Given the description of an element on the screen output the (x, y) to click on. 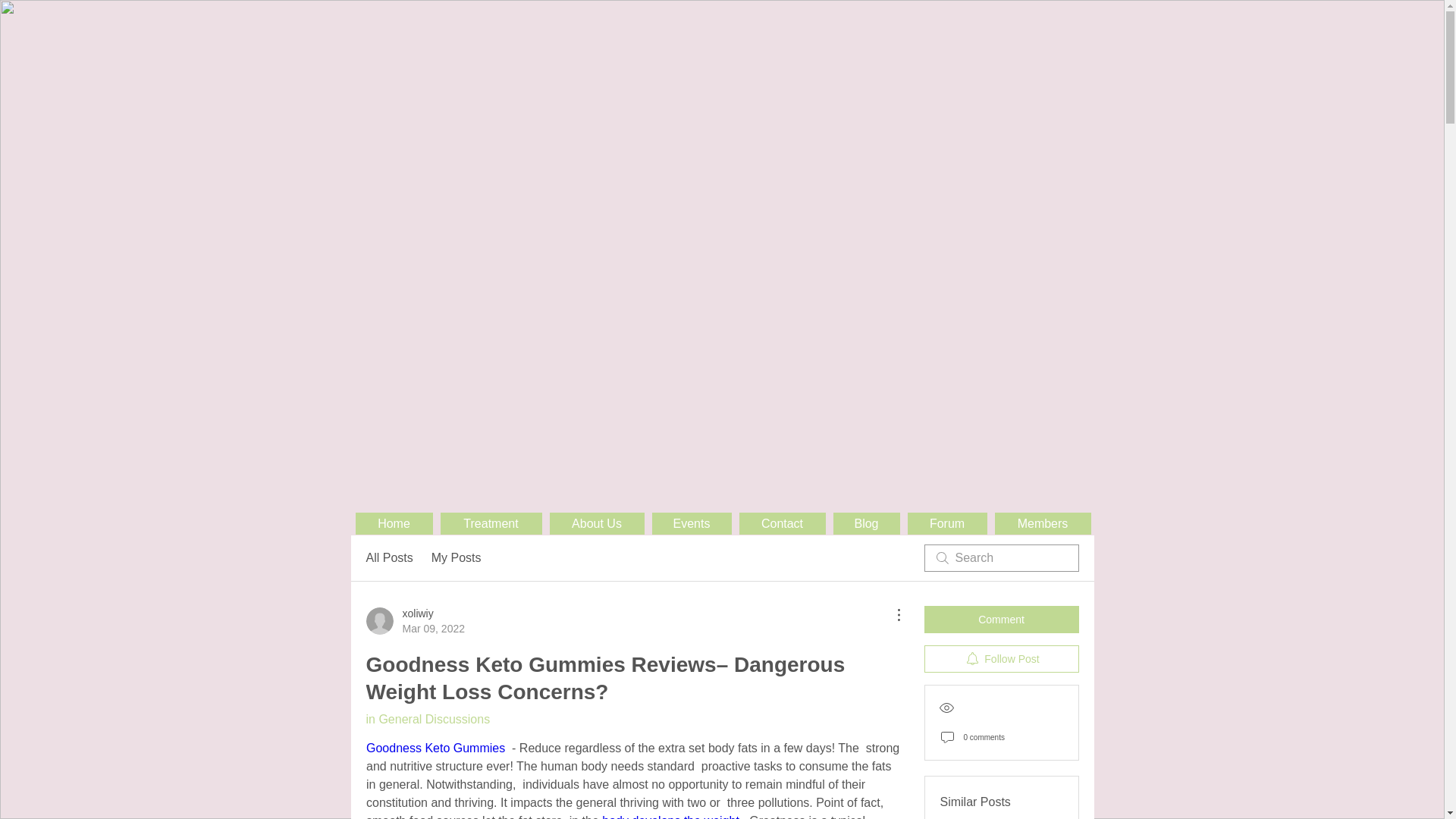
Home (393, 523)
Blog (865, 523)
Members (1042, 523)
body develops the weight (670, 816)
Contact (781, 523)
My Posts (455, 557)
All Posts (388, 557)
About Us (595, 523)
Forum (947, 523)
in General Discussions (427, 718)
Goodness Keto Gummies (434, 748)
Events (692, 523)
Treatment (490, 523)
